Given the description of an element on the screen output the (x, y) to click on. 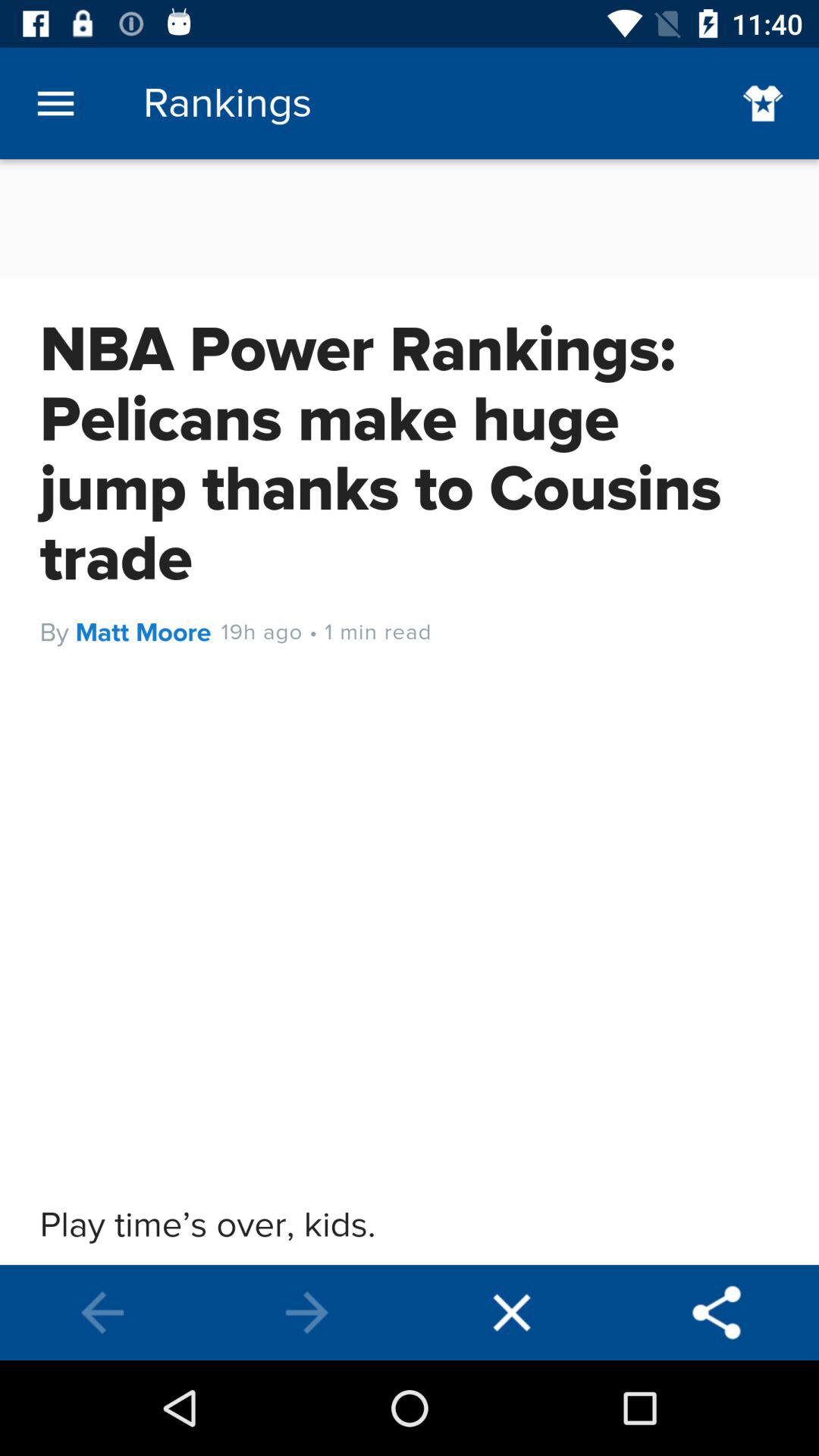
go back (102, 1312)
